Given the description of an element on the screen output the (x, y) to click on. 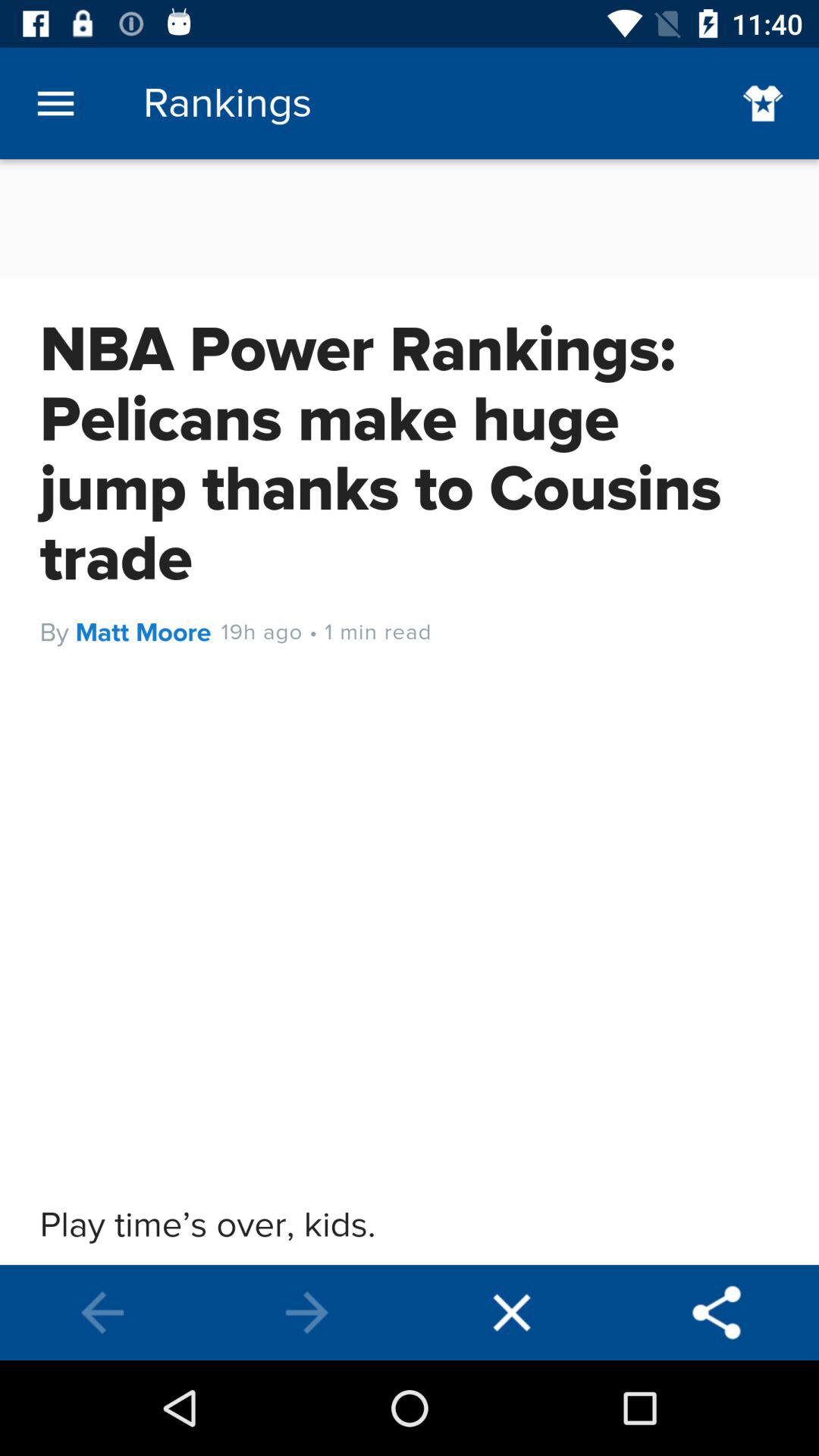
go back (102, 1312)
